Given the description of an element on the screen output the (x, y) to click on. 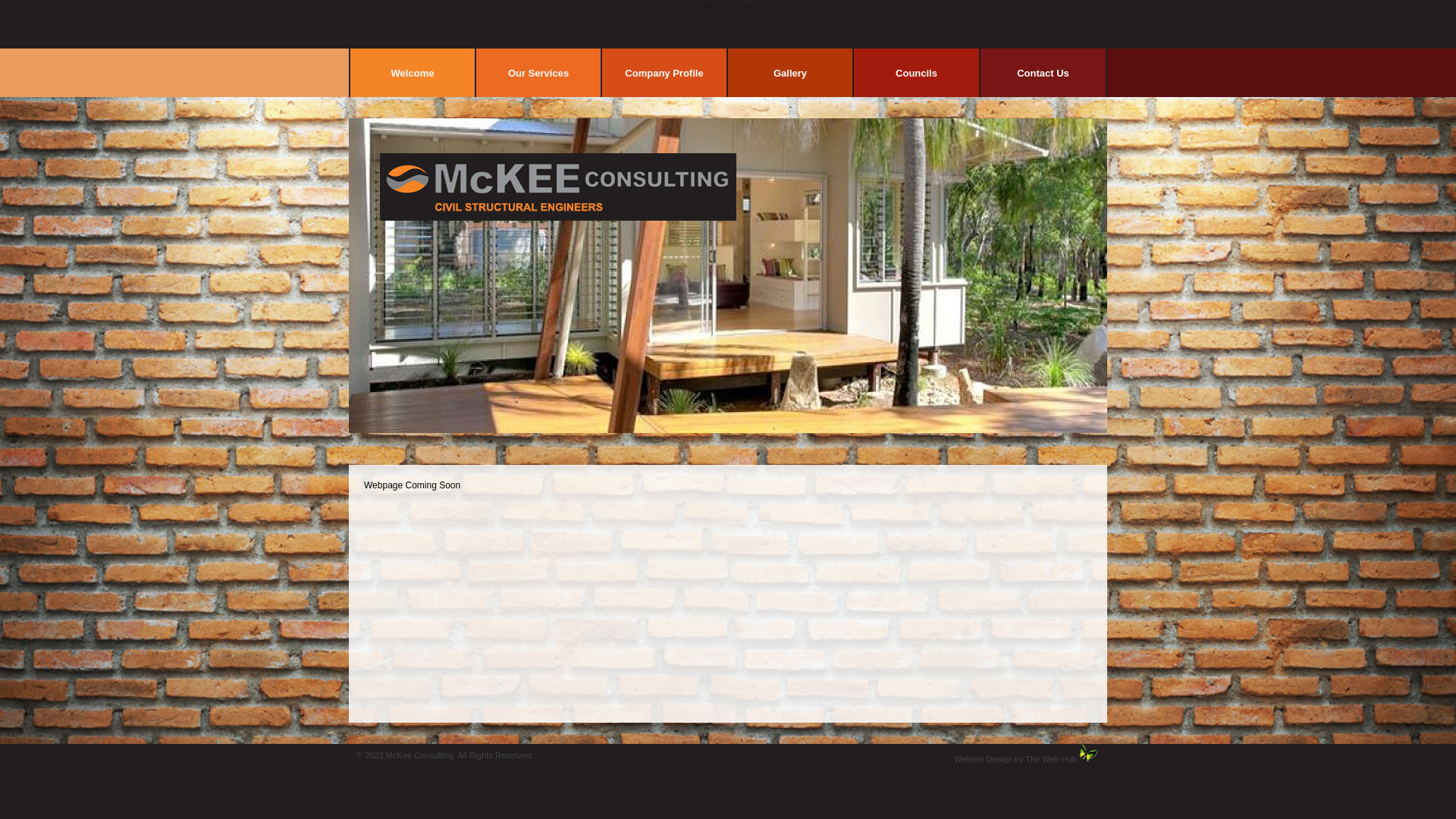
Welcome Element type: text (412, 72)
Our Services Element type: text (538, 72)
Website Design by The Web Hub Element type: text (1014, 758)
Contact Us Element type: text (1042, 72)
Company Profile Element type: text (663, 72)
Gallery Element type: text (789, 72)
Councils Element type: text (916, 72)
Website Designed and Created by The Web Hub Element type: hover (1089, 752)
